Given the description of an element on the screen output the (x, y) to click on. 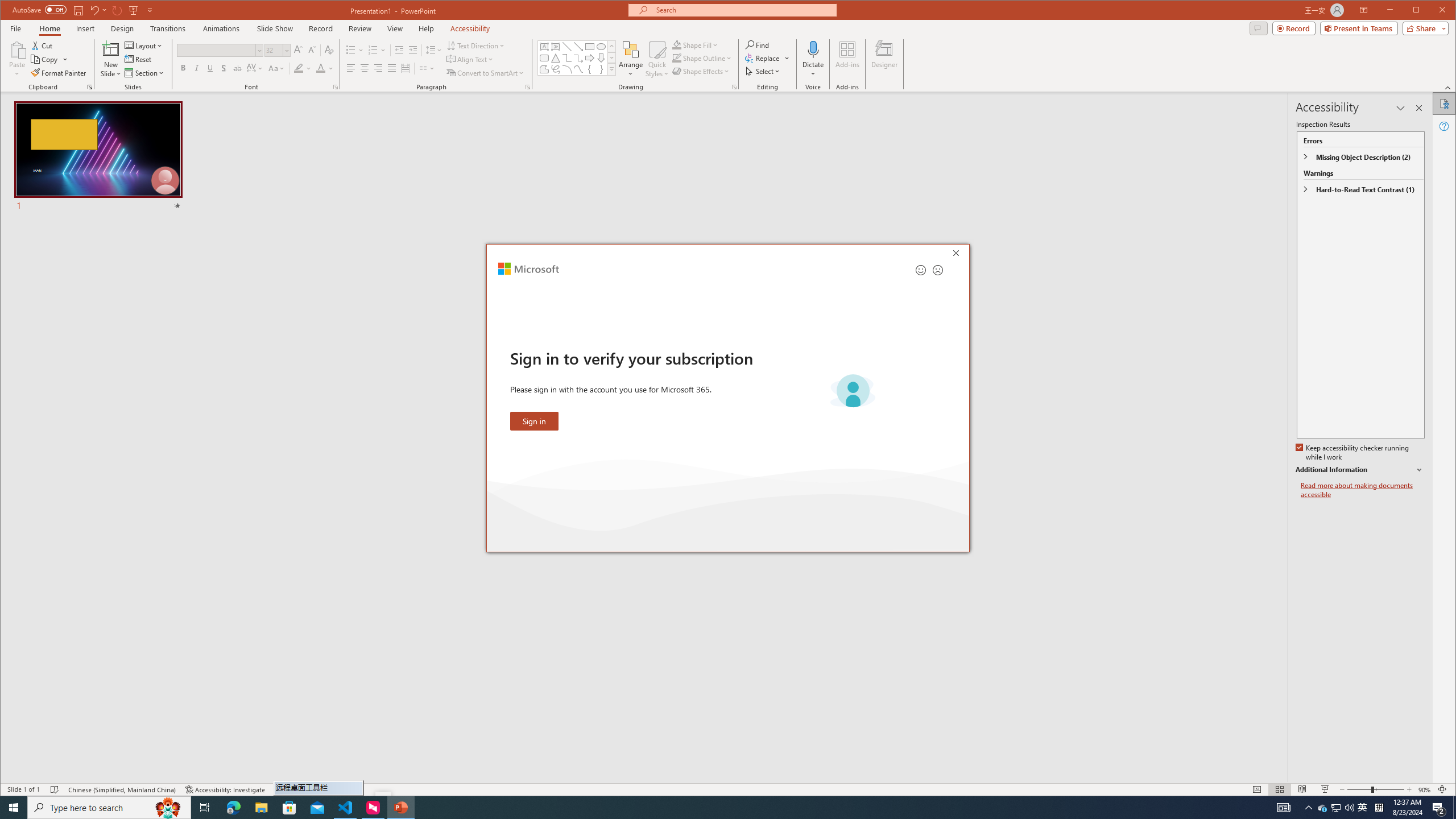
Running applications (700, 807)
Zoom 90% (1424, 789)
